Given the description of an element on the screen output the (x, y) to click on. 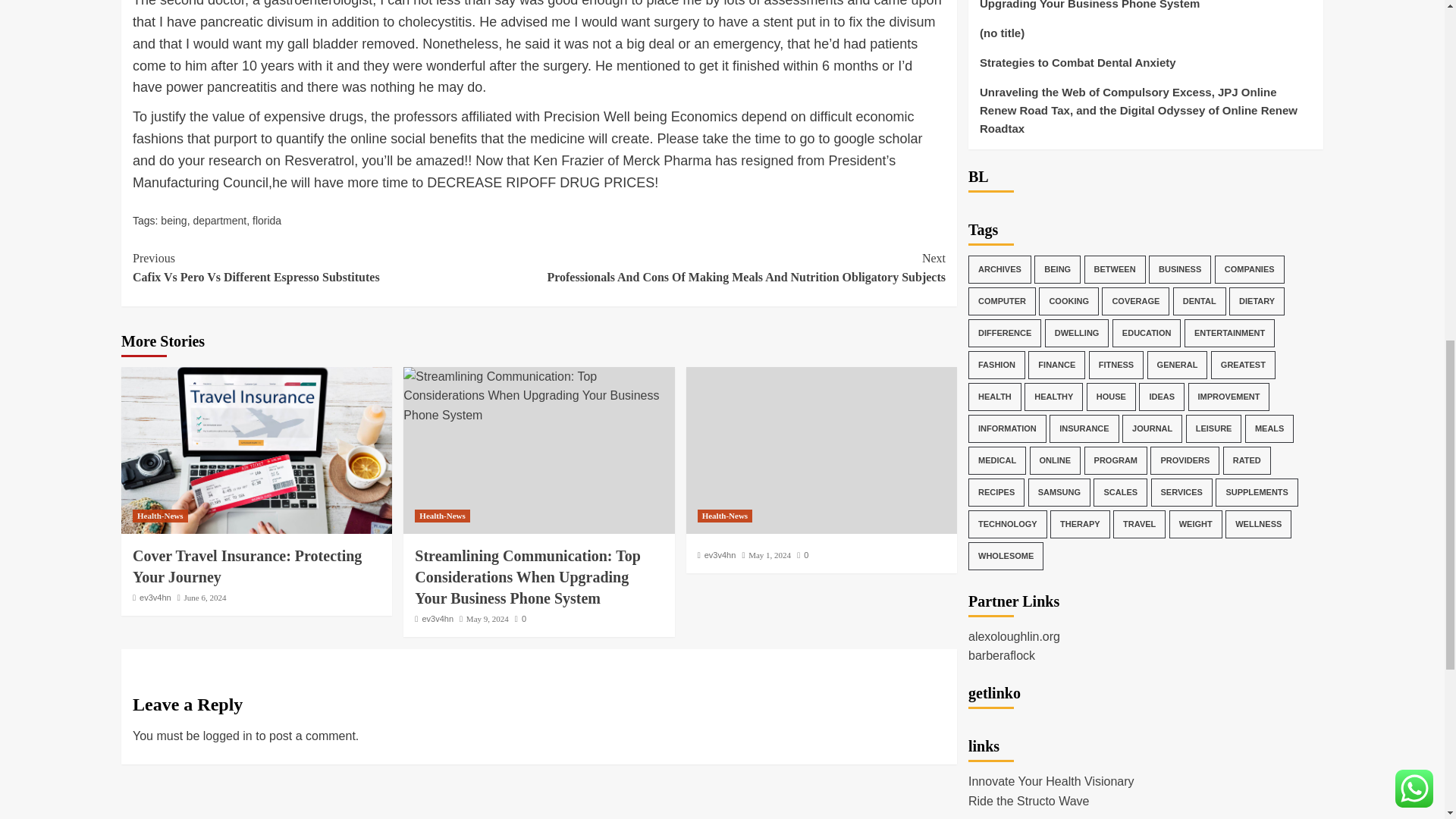
ev3v4hn (437, 618)
0 (520, 618)
Health-News (442, 515)
florida (266, 220)
department (335, 267)
ev3v4hn (219, 220)
being (155, 596)
Cover Travel Insurance: Protecting Your Journey (173, 220)
May 9, 2024 (246, 566)
Cover Travel Insurance: Protecting Your Journey (486, 618)
Health-News (255, 449)
June 6, 2024 (159, 515)
